Given the description of an element on the screen output the (x, y) to click on. 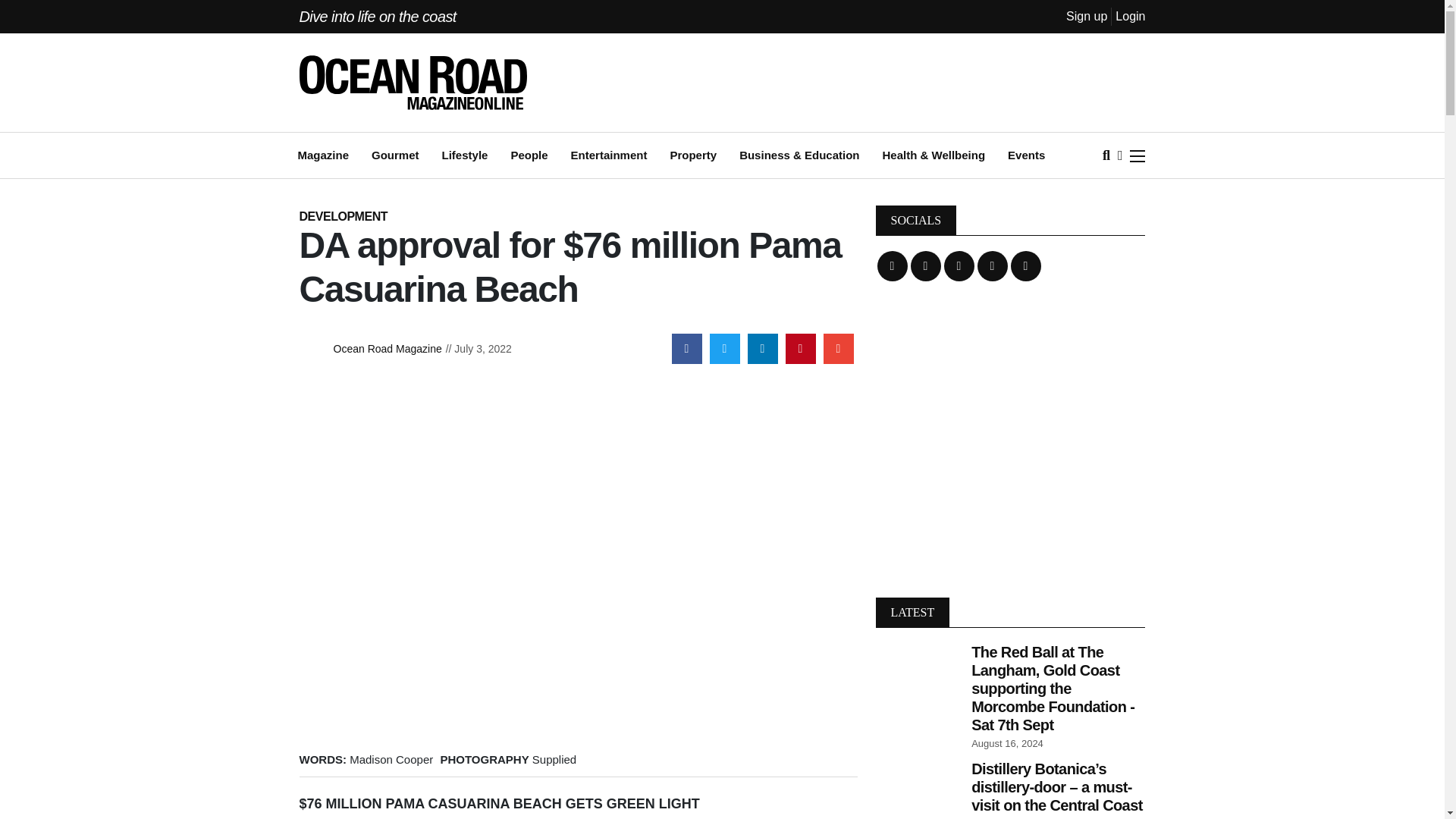
Magazine (323, 155)
Login (1129, 15)
Property (692, 155)
DEVELOPMENT (342, 215)
Sign up (1085, 15)
Entertainment (608, 155)
Gourmet (395, 155)
Events (1026, 155)
Ocean Road Magazine (385, 349)
